Given the description of an element on the screen output the (x, y) to click on. 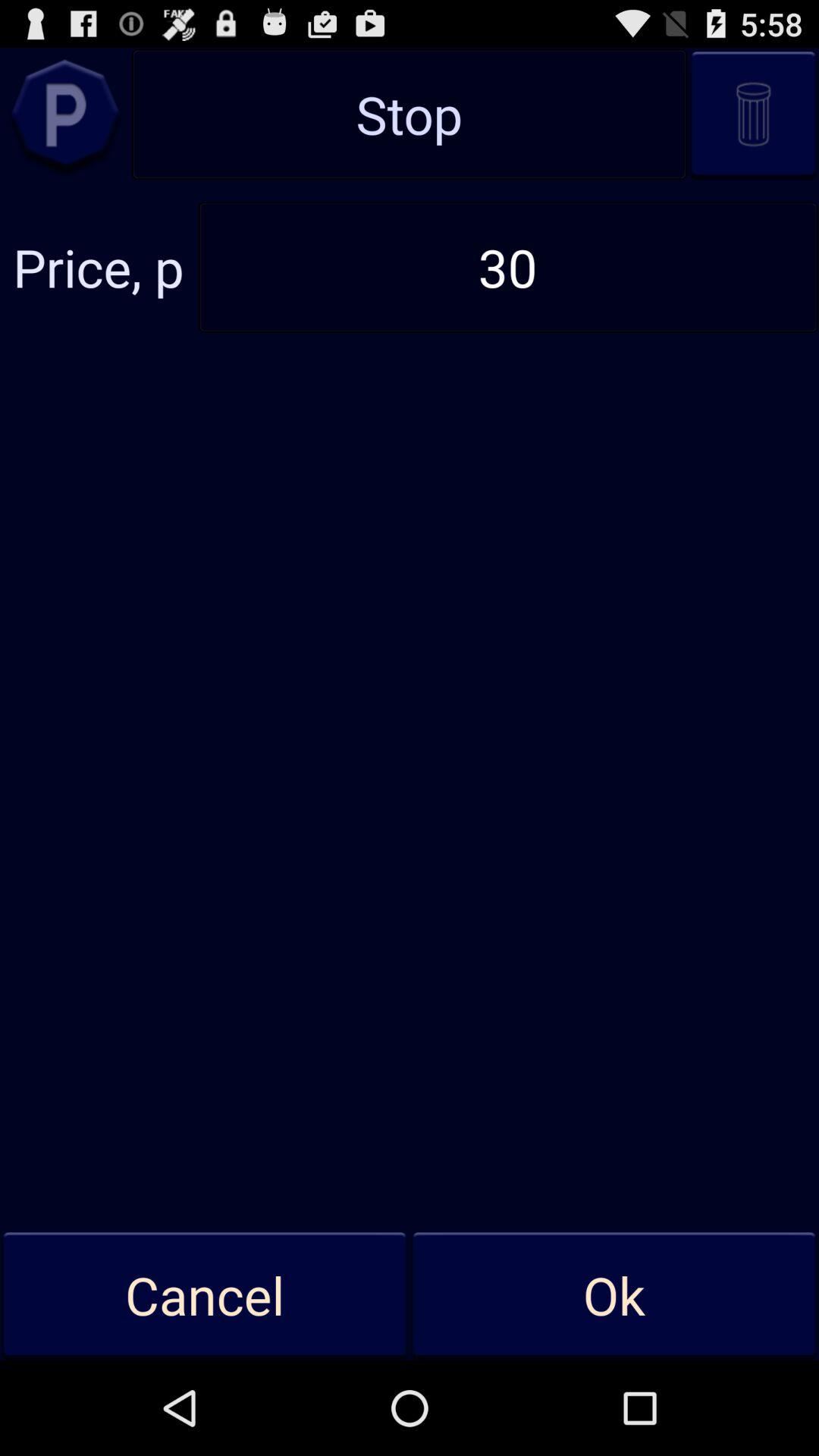
delete entry (753, 113)
